Given the description of an element on the screen output the (x, y) to click on. 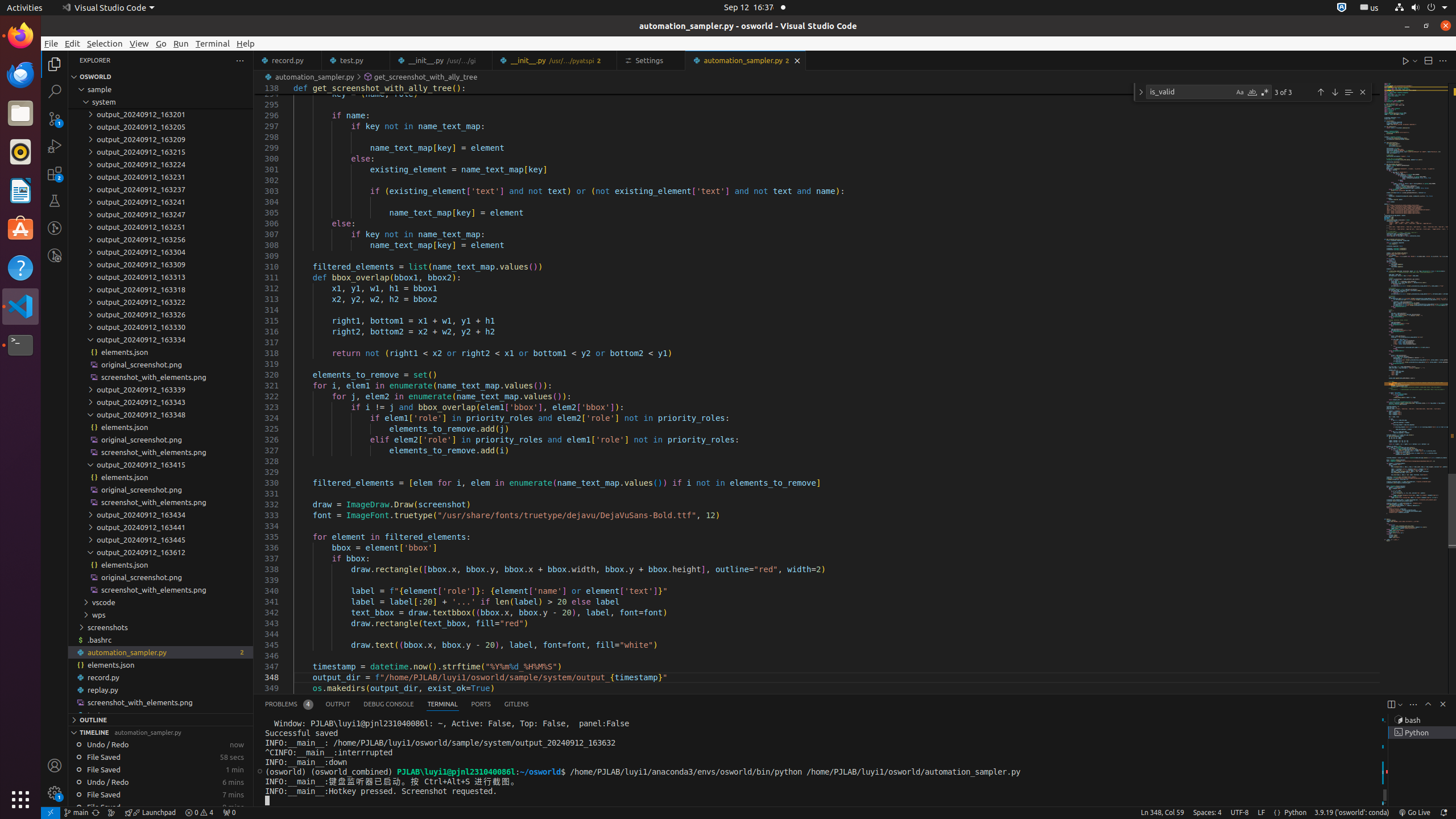
Debug Console (Ctrl+Shift+Y) Element type: page-tab (388, 704)
output_20240912_163326 Element type: tree-item (160, 314)
More Actions... Element type: push-button (1442, 60)
output_20240912_163201 Element type: tree-item (160, 114)
Manage - New Code update available. Element type: push-button (54, 792)
